Given the description of an element on the screen output the (x, y) to click on. 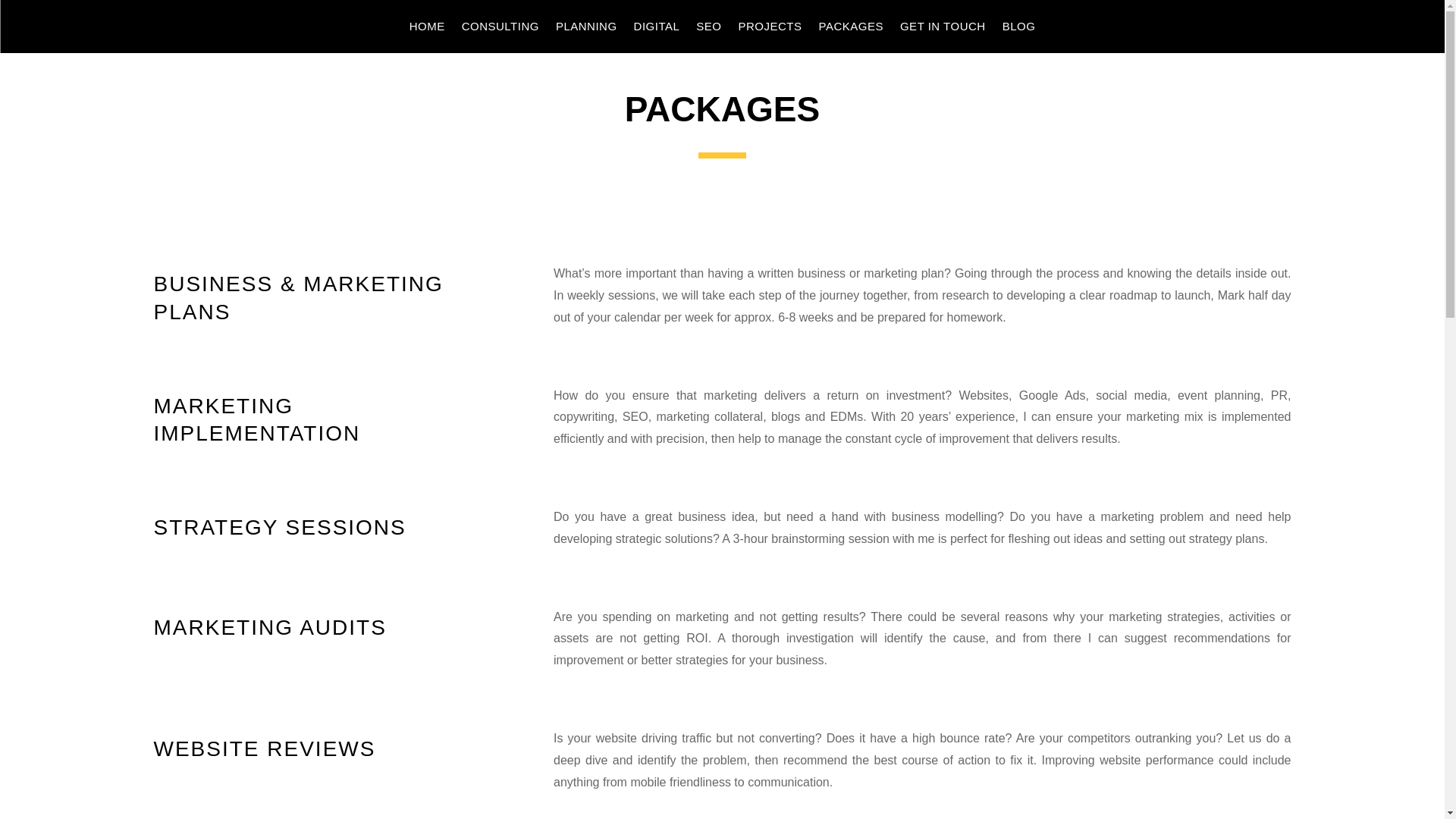
HOME (427, 29)
BLOG (1019, 29)
GET IN TOUCH (942, 29)
PROJECTS (770, 29)
PACKAGES (850, 29)
SEO (707, 29)
CONSULTING (499, 29)
PLANNING (586, 29)
DIGITAL (656, 29)
